Given the description of an element on the screen output the (x, y) to click on. 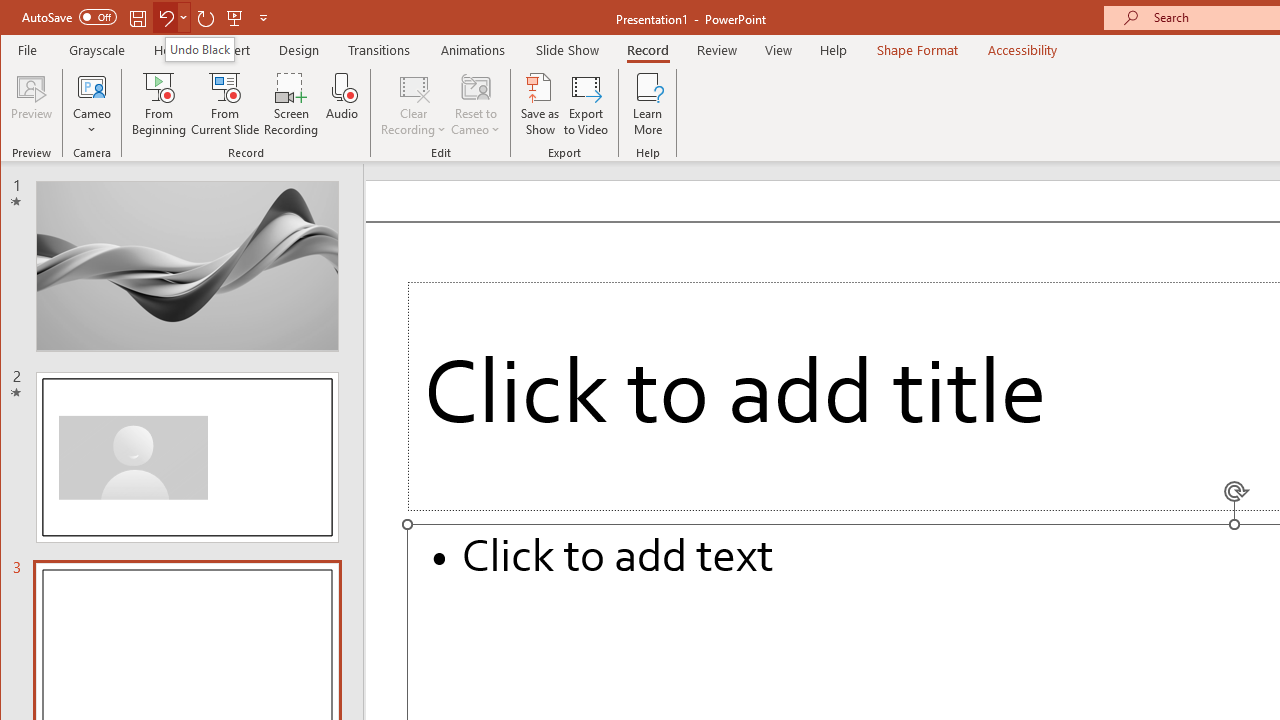
Screen Recording (291, 104)
From Beginning... (159, 104)
Grayscale (97, 50)
